Given the description of an element on the screen output the (x, y) to click on. 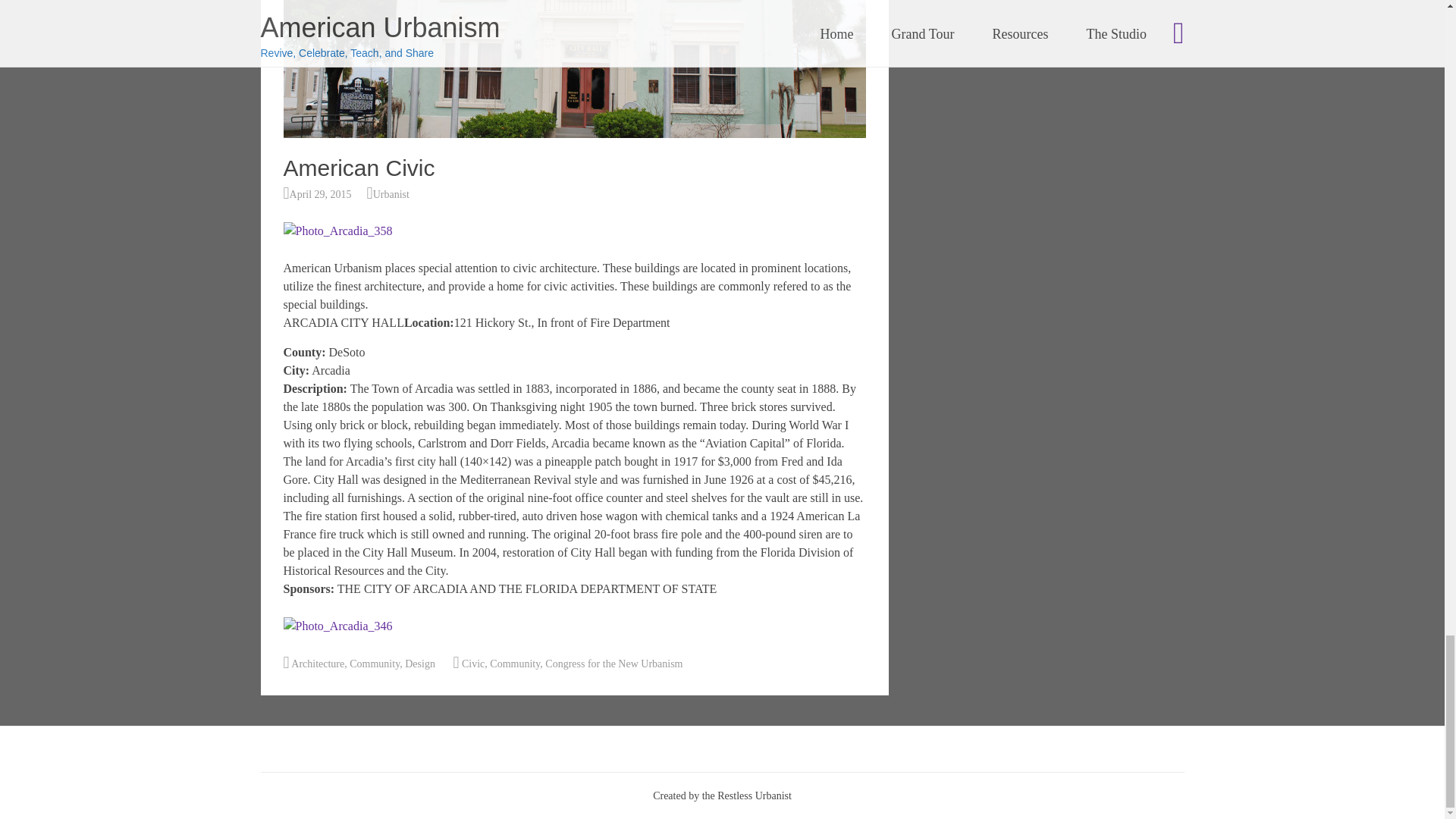
American Civic (574, 69)
American Civic (574, 133)
